Given the description of an element on the screen output the (x, y) to click on. 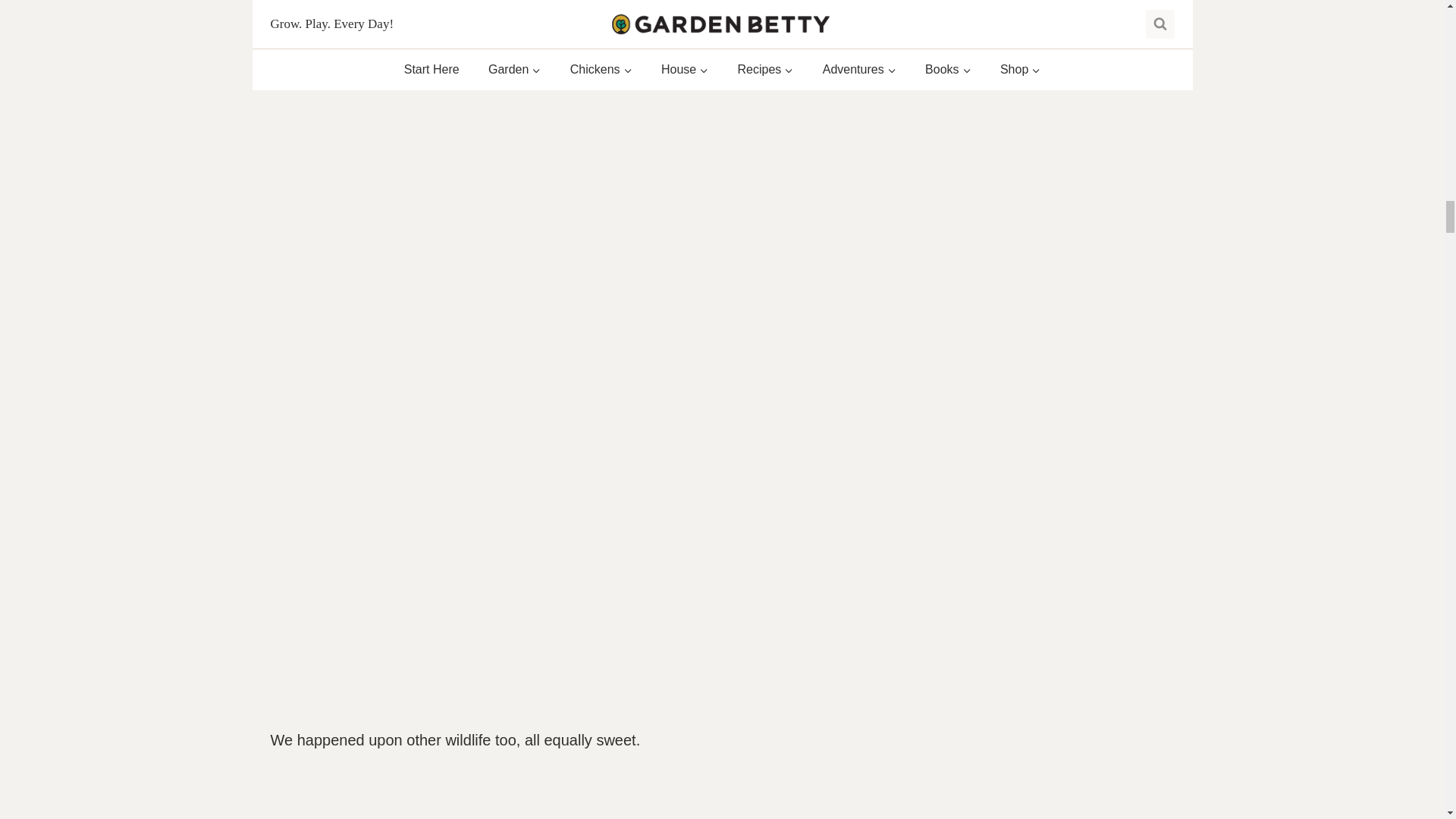
Favorite Moments from Pagosa Springs (563, 798)
Favorite Moments from Pagosa Springs (563, 31)
